Given the description of an element on the screen output the (x, y) to click on. 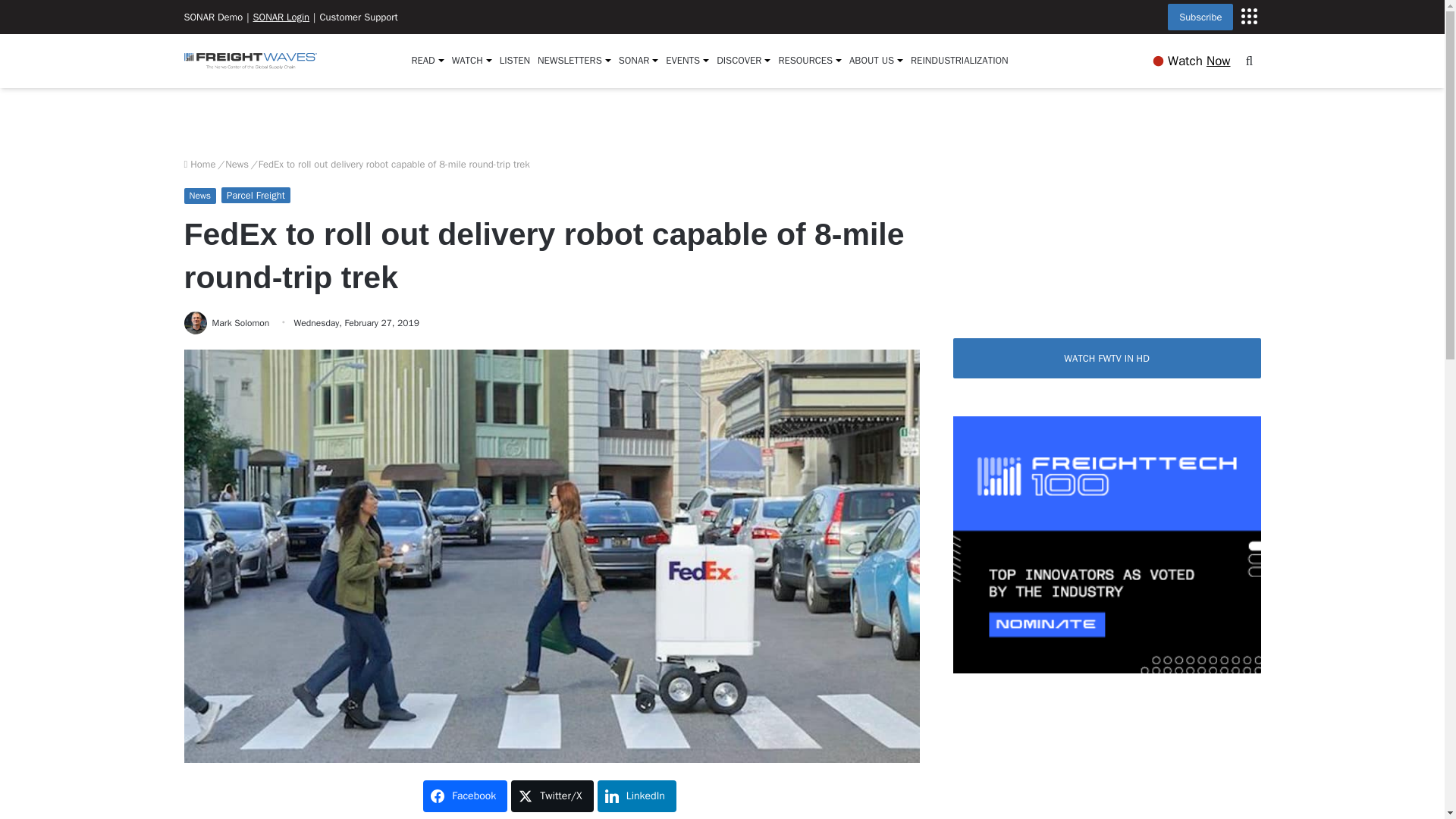
SONAR Demo (213, 16)
Share on Facebook (464, 796)
FreightWaves (249, 61)
Subscribe (1200, 17)
Customer Support (357, 16)
SONAR Login (281, 16)
 Subscribe (1248, 15)
Share on LinkedIn (636, 796)
